Given the description of an element on the screen output the (x, y) to click on. 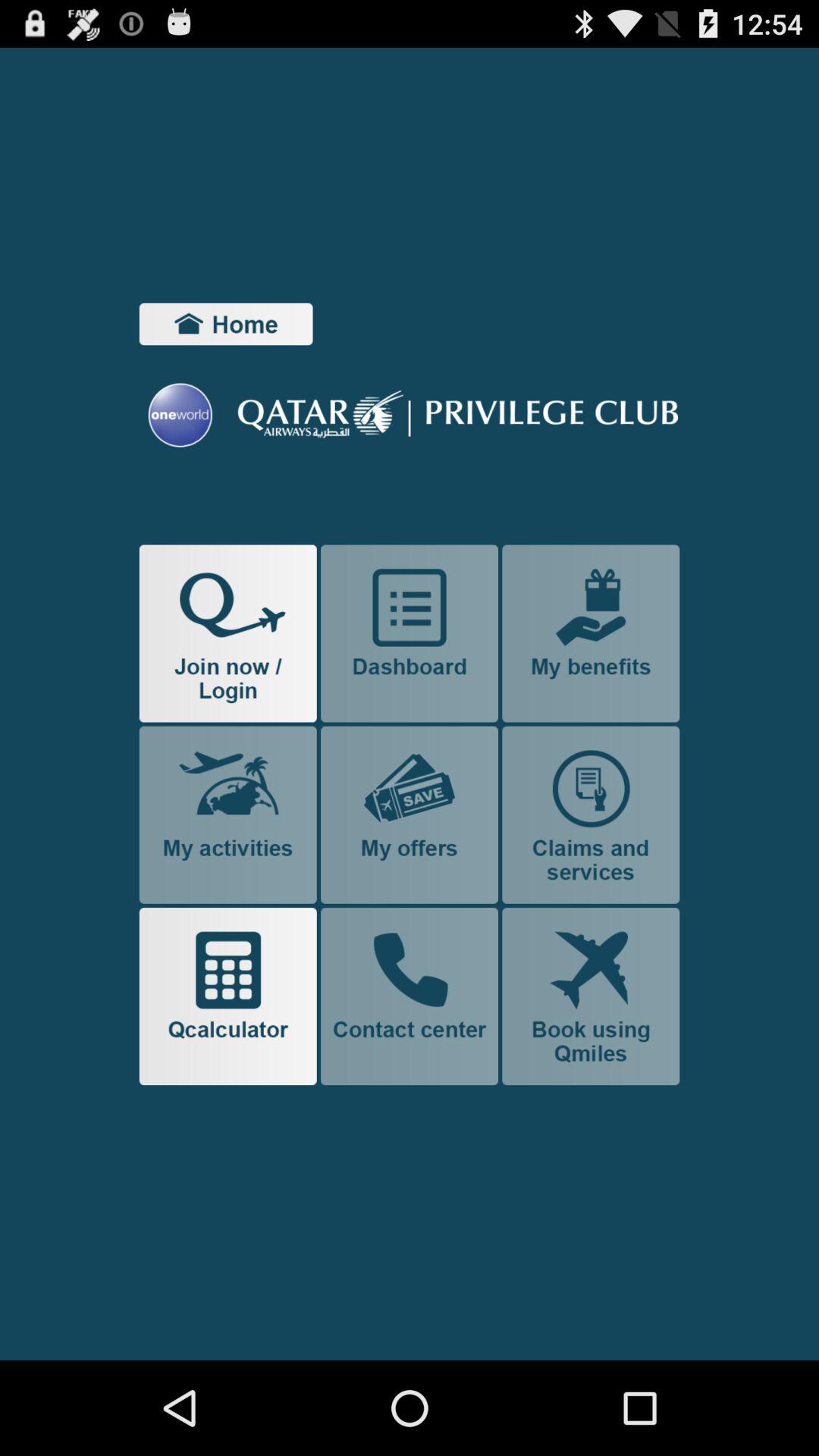
shows you what special offers you have (409, 814)
